Given the description of an element on the screen output the (x, y) to click on. 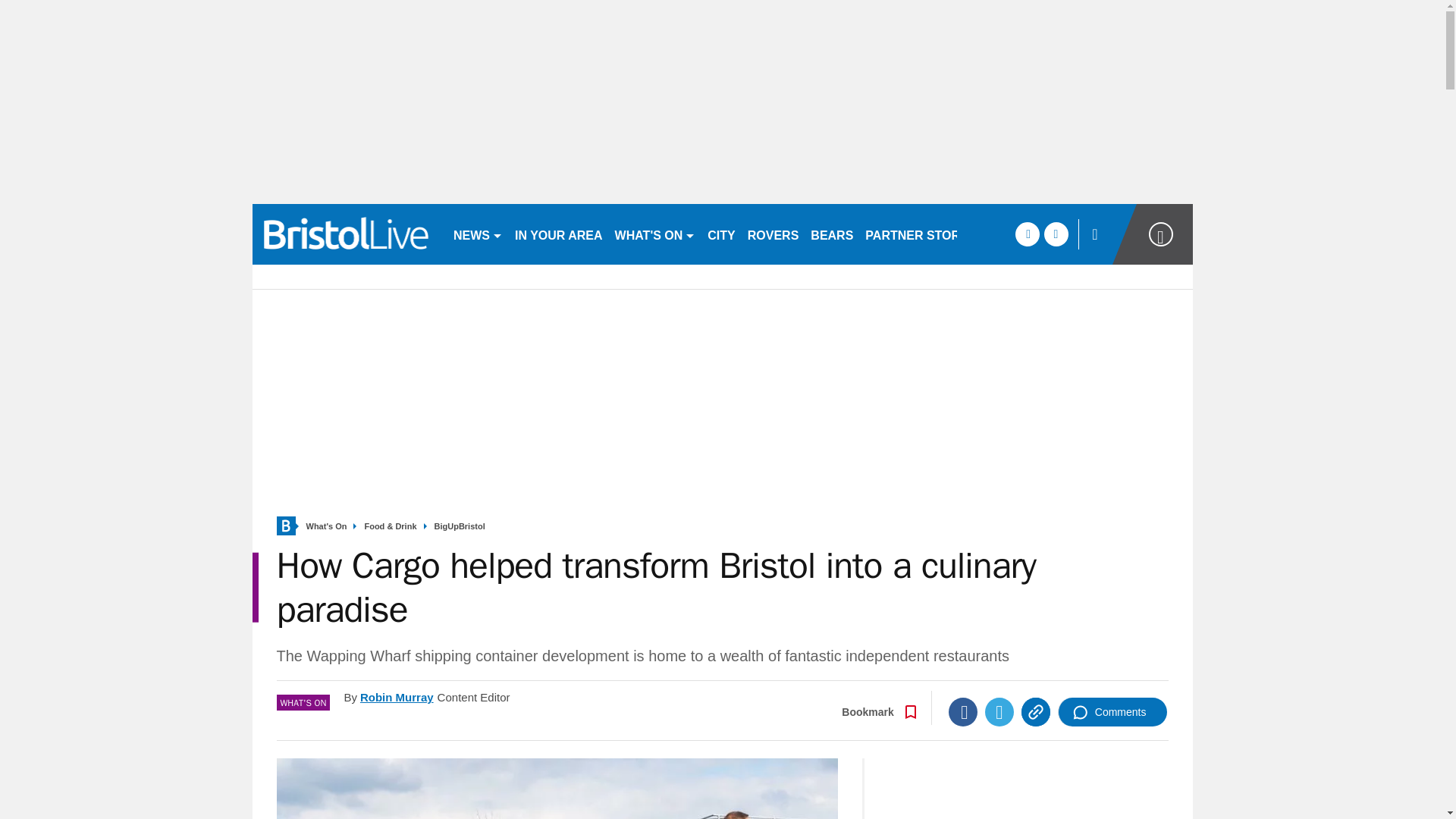
facebook (1026, 233)
Comments (1112, 711)
IN YOUR AREA (558, 233)
bristolpost (345, 233)
ROVERS (773, 233)
Facebook (962, 711)
BEARS (832, 233)
CITY (721, 233)
PARTNER STORIES (922, 233)
Twitter (999, 711)
twitter (1055, 233)
NEWS (477, 233)
WHAT'S ON (654, 233)
